Given the description of an element on the screen output the (x, y) to click on. 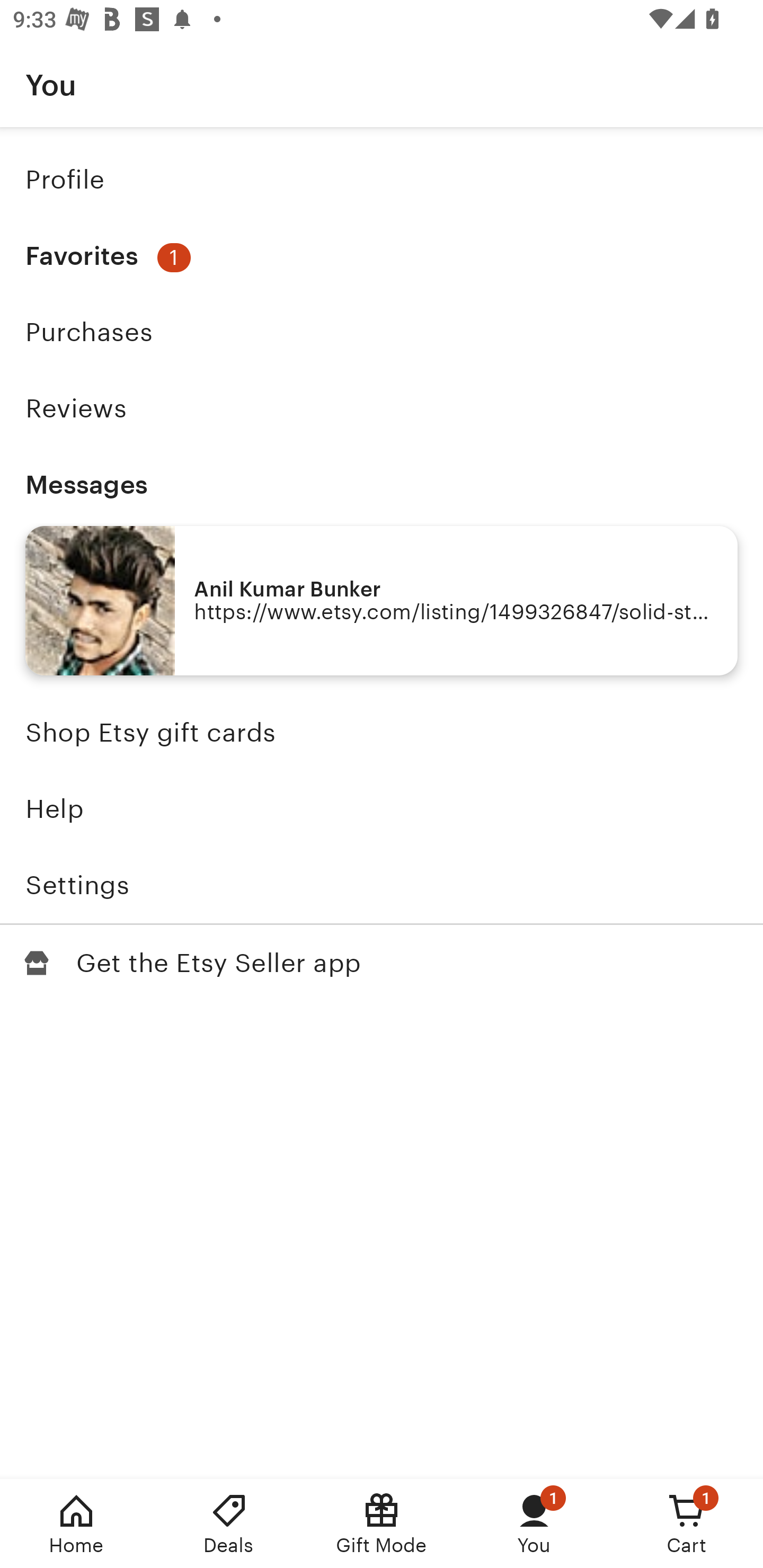
Profile (381, 179)
Favorites 1 (381, 255)
Purchases (381, 332)
Reviews (381, 408)
Messages (381, 484)
Shop Etsy gift cards (381, 732)
Help (381, 808)
Settings (381, 884)
Get the Etsy Seller app (381, 963)
Home (76, 1523)
Deals (228, 1523)
Gift Mode (381, 1523)
Cart, 1 new notification Cart (686, 1523)
